Given the description of an element on the screen output the (x, y) to click on. 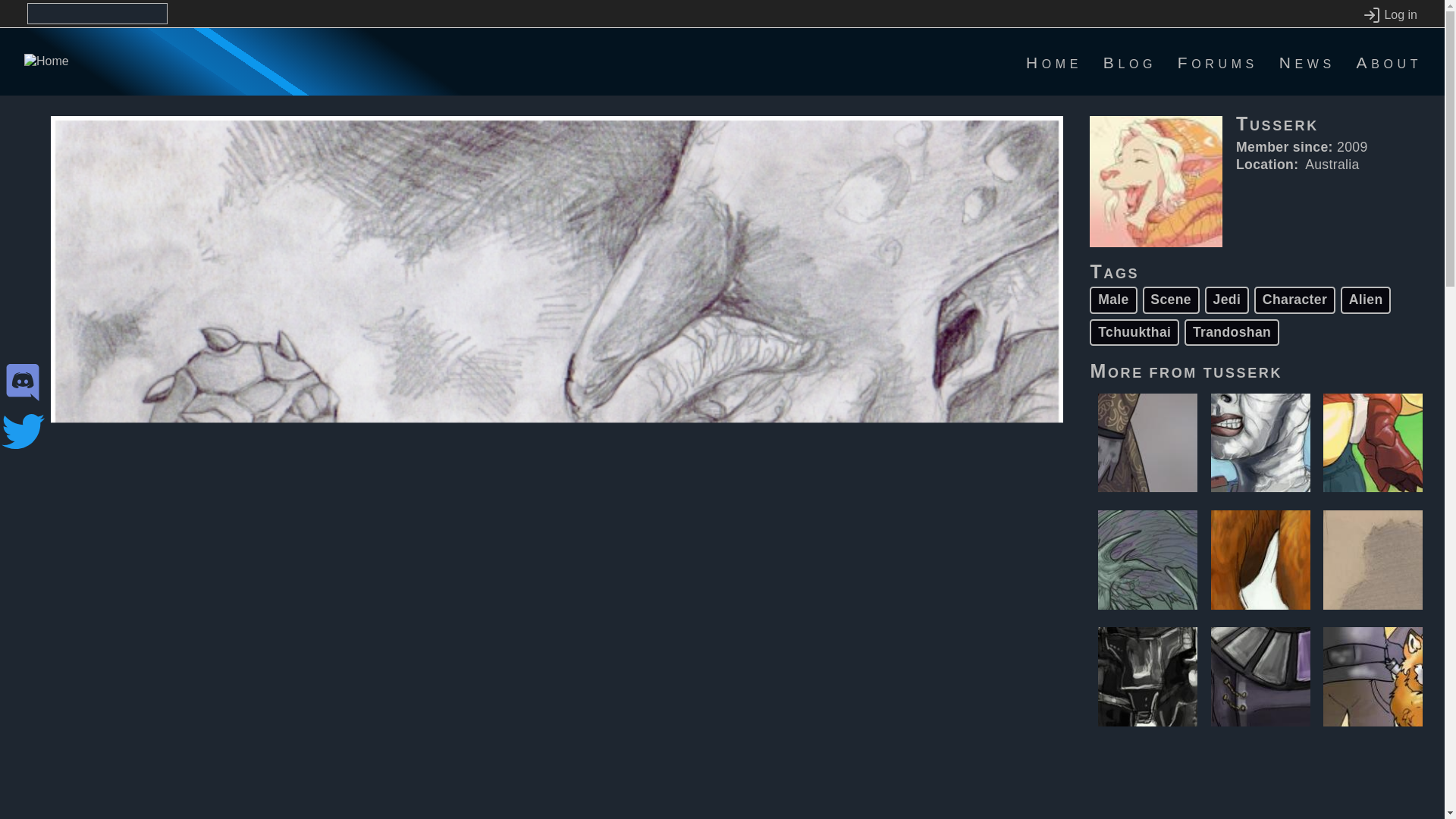
About (1389, 62)
Log in (1389, 14)
News (1307, 62)
Home (1053, 62)
Enter the terms you wish to search for. (97, 13)
Forums (1217, 62)
View user profile. (1243, 370)
Blog (1129, 62)
